Given the description of an element on the screen output the (x, y) to click on. 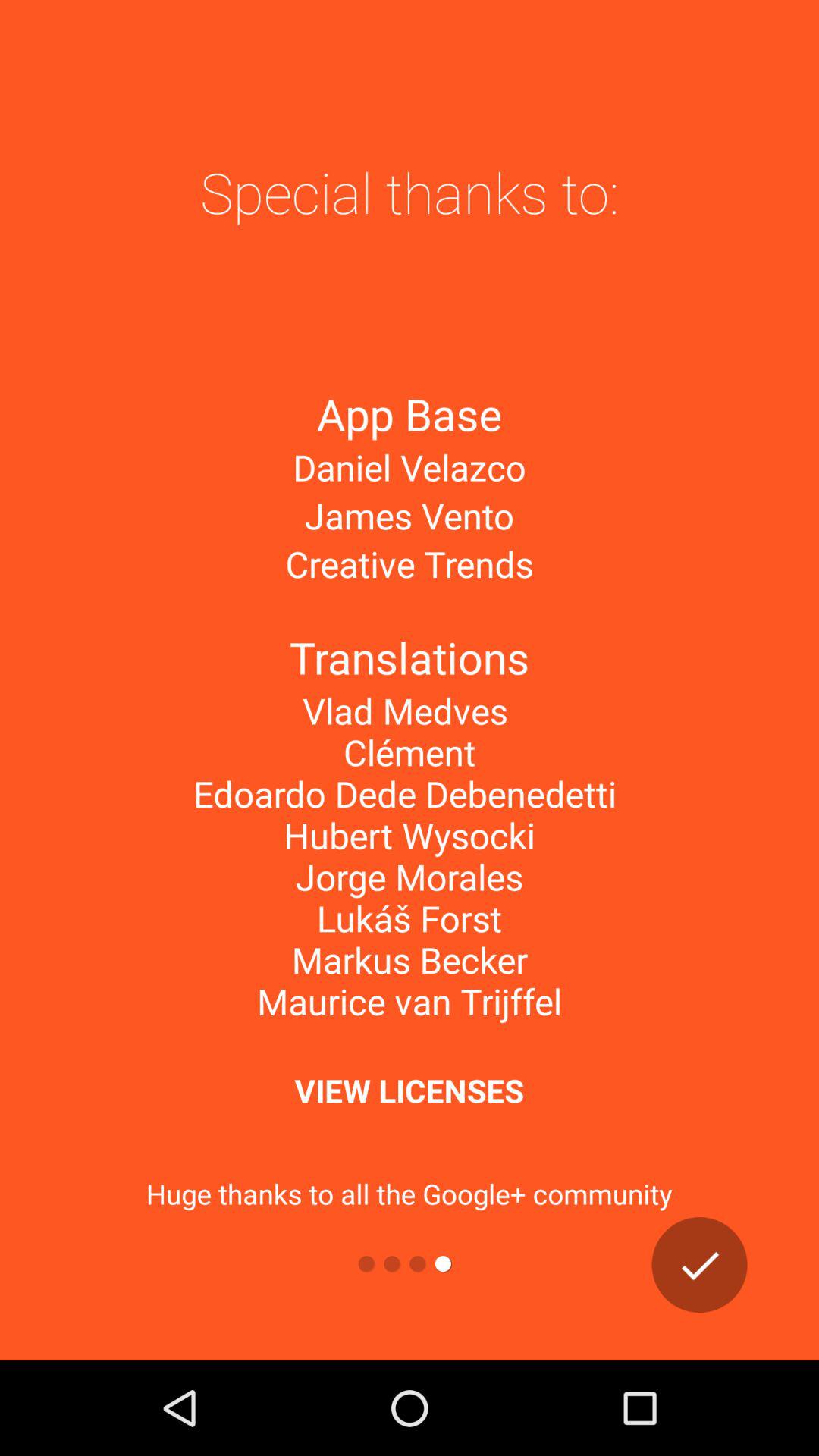
launch item at the bottom right corner (699, 1264)
